Given the description of an element on the screen output the (x, y) to click on. 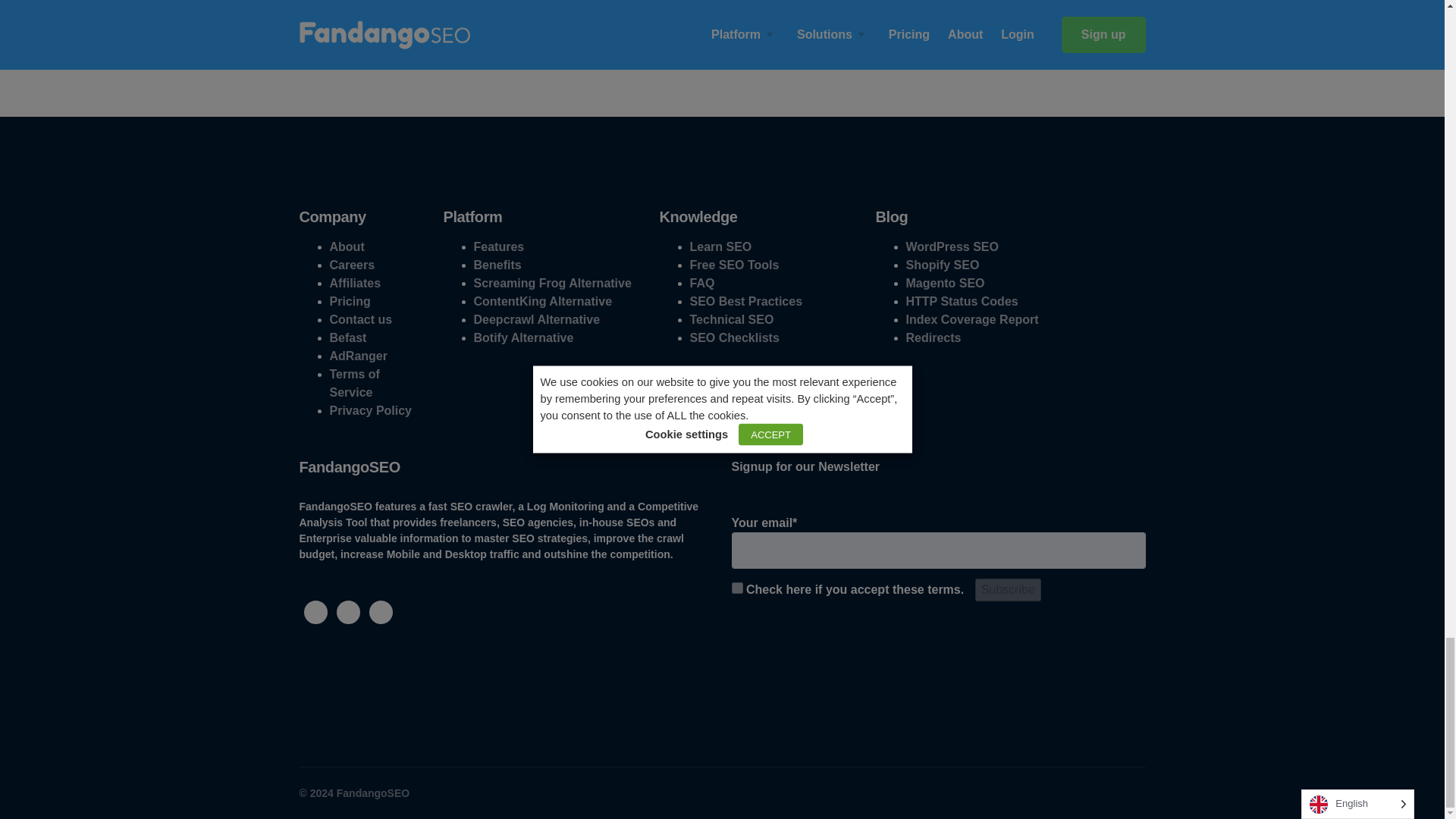
Subscribe (1008, 589)
1 (736, 587)
